Given the description of an element on the screen output the (x, y) to click on. 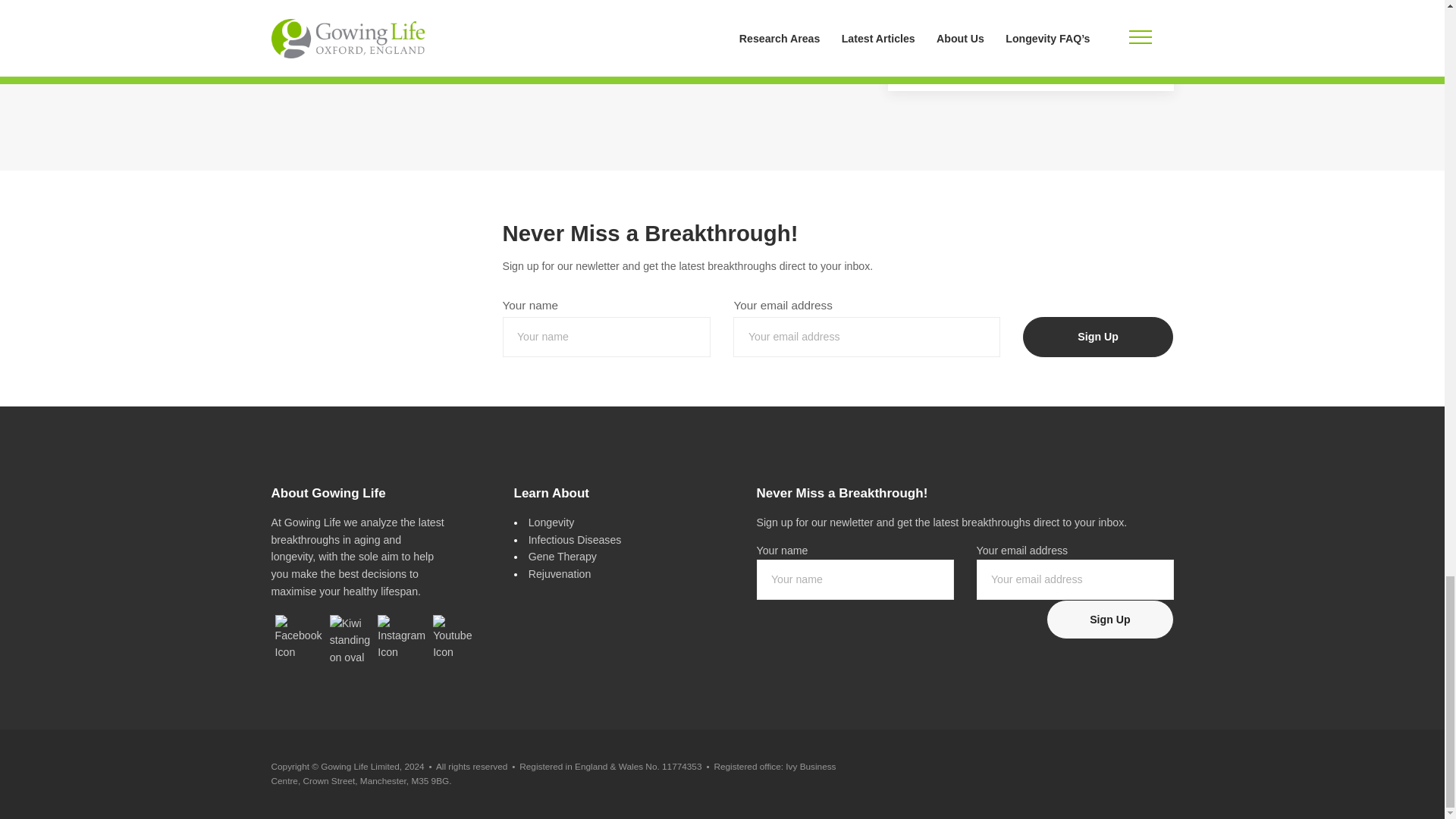
Learn all about Gene Therapy (562, 556)
Learn all about Infectious Diseases (574, 539)
Learn all about Rejuvenation (559, 573)
Sign Up (1109, 618)
Sign Up (1098, 336)
Learn all about Longevity (551, 522)
